Given the description of an element on the screen output the (x, y) to click on. 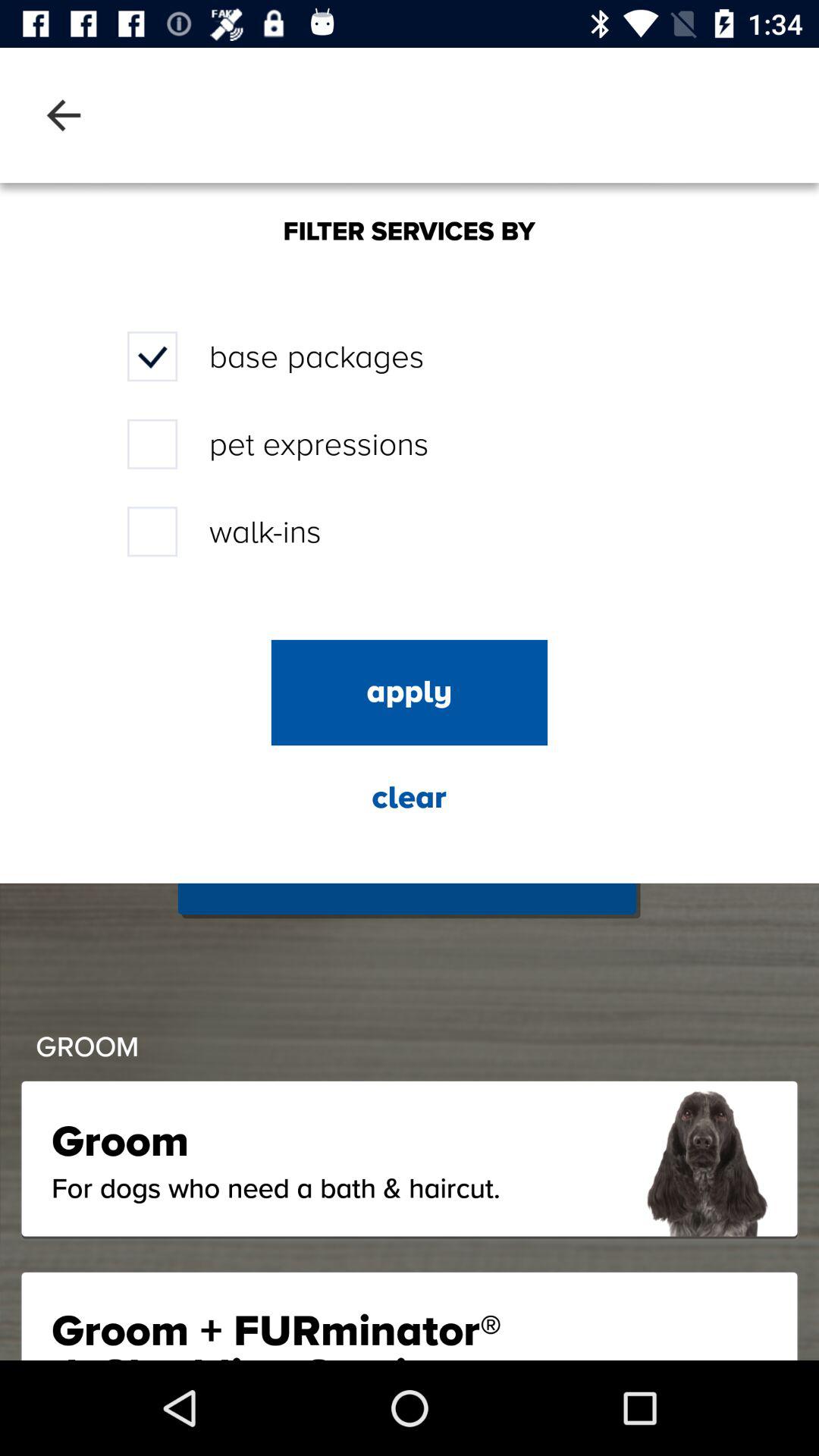
choose the icon above the clear icon (409, 692)
